Given the description of an element on the screen output the (x, y) to click on. 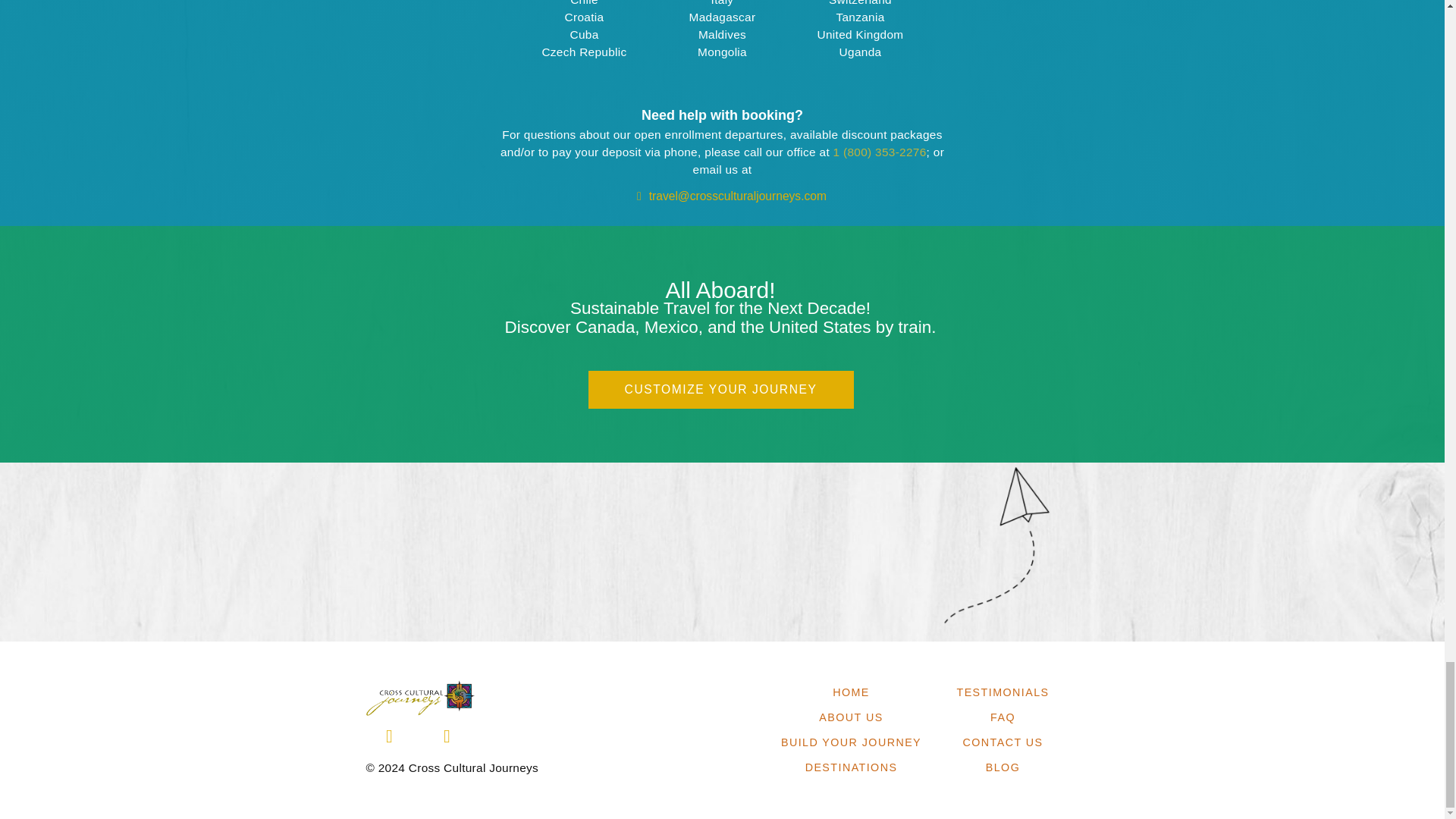
CONTACT US (1002, 742)
TESTIMONIALS (1002, 692)
DESTINATIONS (850, 767)
BLOG (1002, 767)
CUSTOMIZE YOUR JOURNEY (720, 389)
BUILD YOUR JOURNEY (850, 742)
ABOUT US (850, 717)
HOME (850, 692)
FAQ (1002, 717)
